Given the description of an element on the screen output the (x, y) to click on. 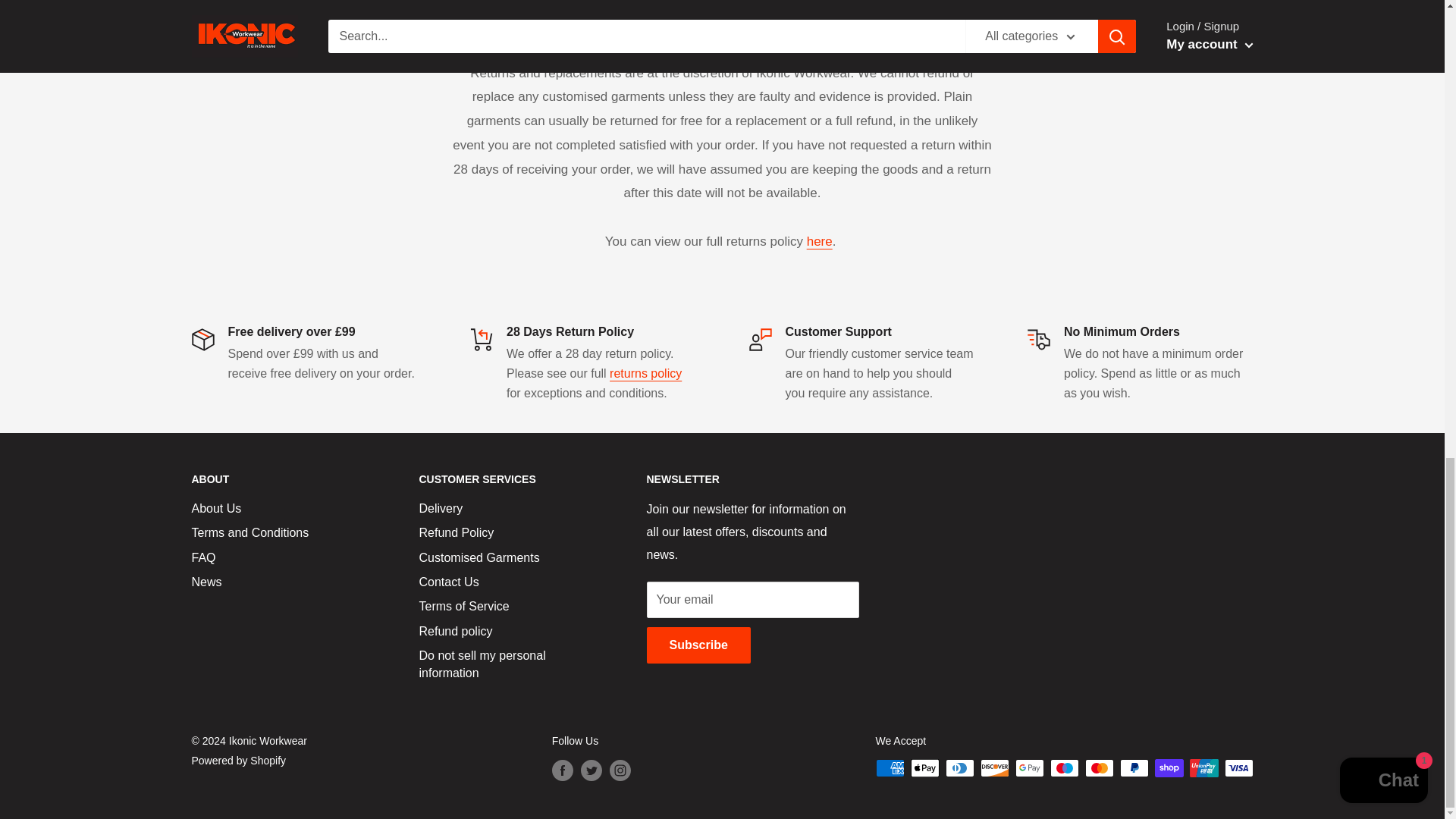
Returns Policy (819, 241)
Refund Policy (645, 373)
